Given the description of an element on the screen output the (x, y) to click on. 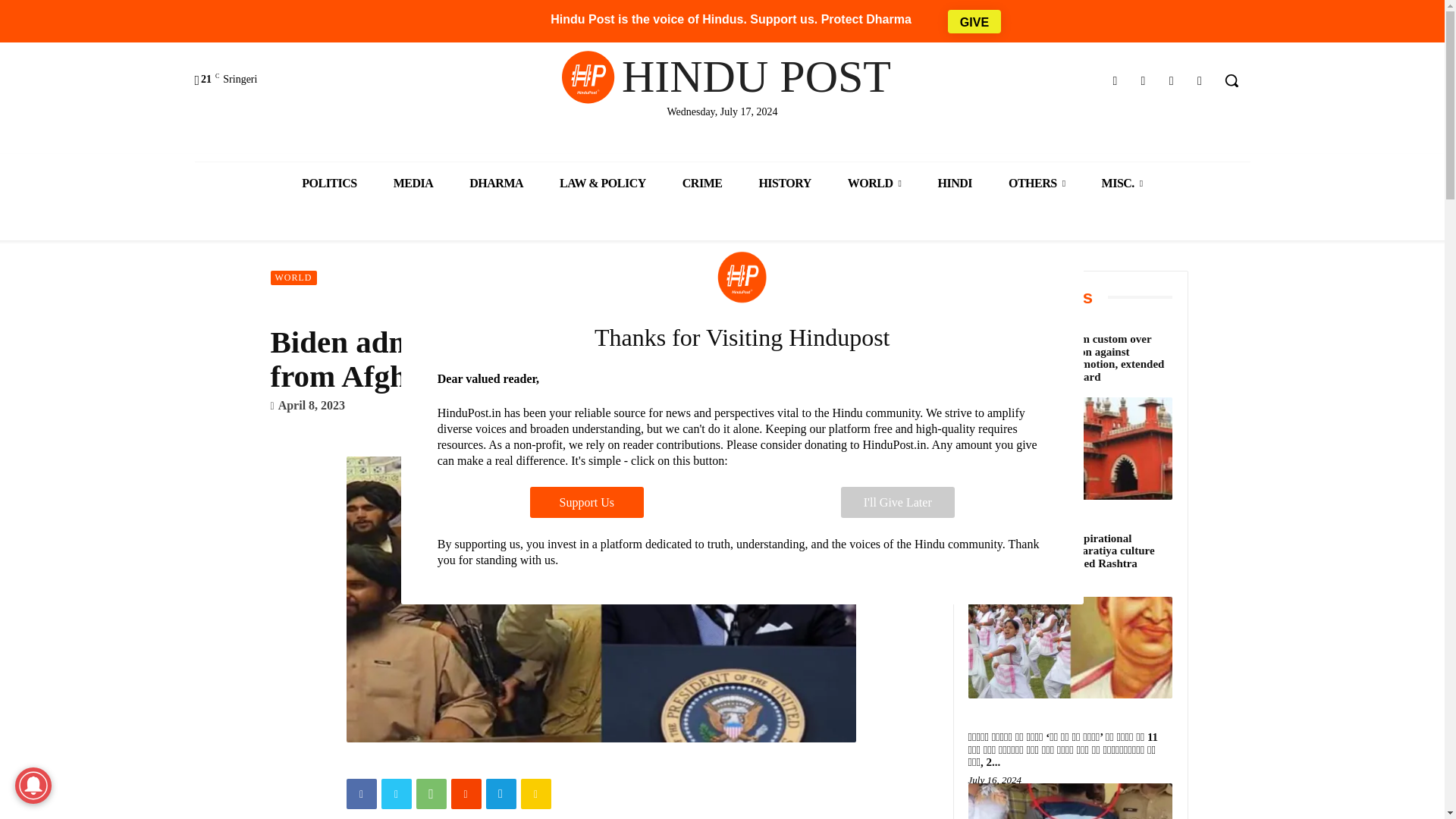
Facebook (1115, 80)
HINDU POST (721, 76)
Instagram (1142, 80)
Youtube (1199, 80)
GIVE (974, 20)
Hindu Post (721, 76)
Twitter (1170, 80)
